Given the description of an element on the screen output the (x, y) to click on. 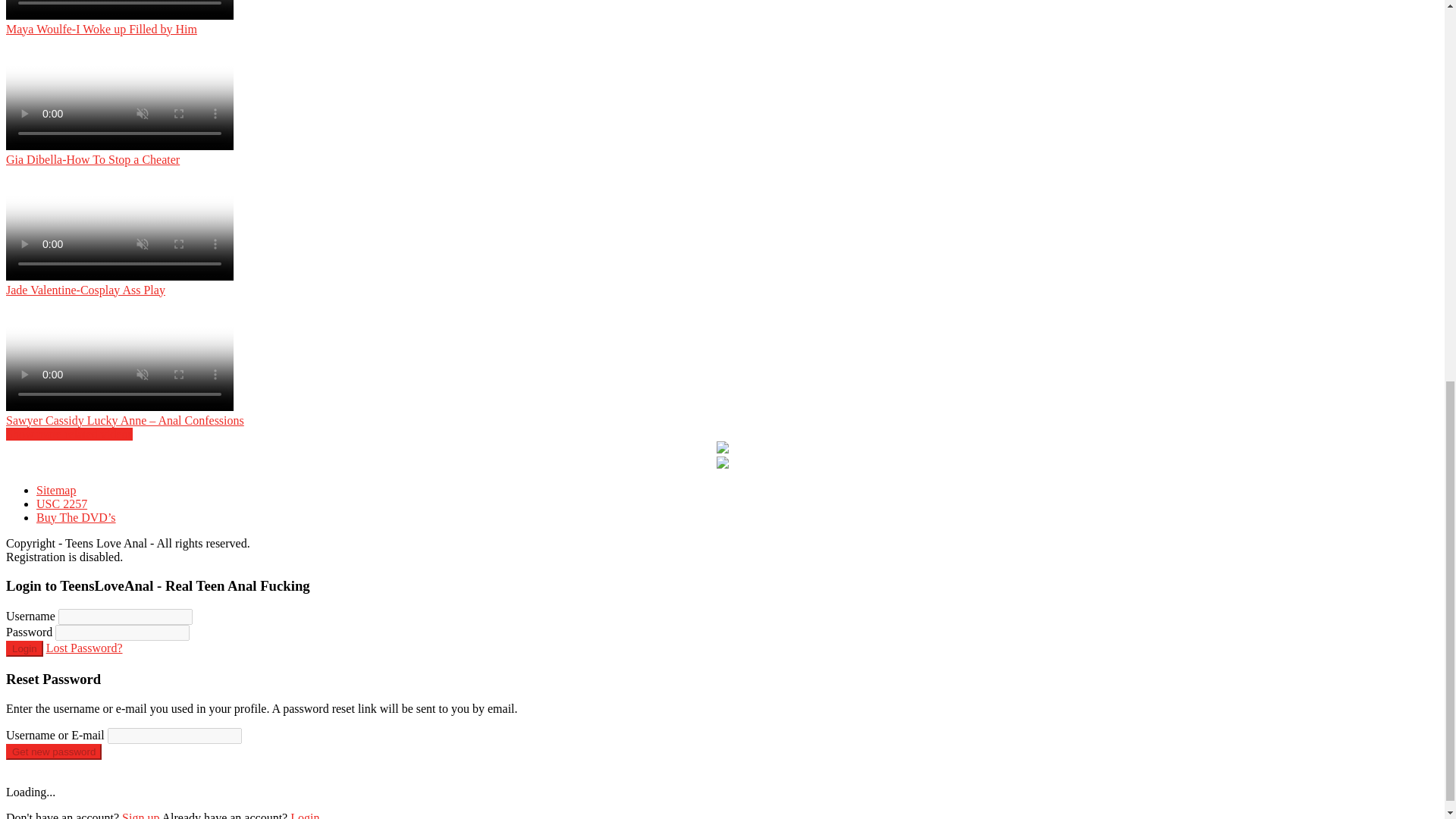
Gia Dibella-How To Stop a Cheater (244, 101)
Gia Dibella-How To Stop a Cheater (244, 101)
Sitemap (55, 490)
Jade Valentine-Cosplay Ass Play (244, 232)
USC 2257 (61, 503)
Jade Valentine-Cosplay Ass Play (244, 232)
Maya Woulfe-I Woke up Filled by Him (244, 18)
Maya Woulfe-I Woke up Filled by Him (244, 18)
Show more related videos (68, 433)
Get new password (53, 750)
